Given the description of an element on the screen output the (x, y) to click on. 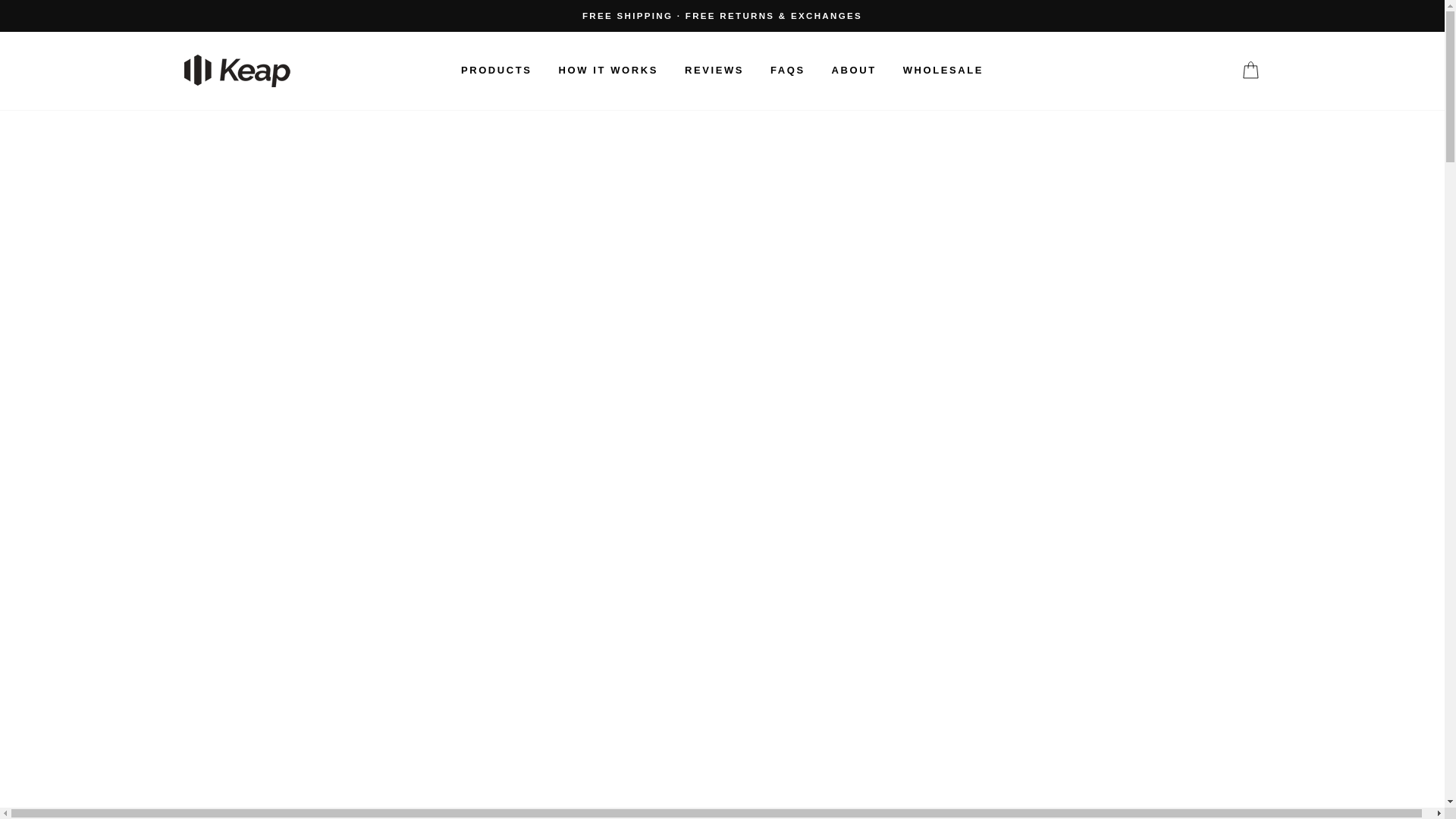
HOW IT WORKS (608, 70)
WHOLESALE (942, 70)
CART (1249, 70)
PRODUCTS (496, 70)
FAQS (787, 70)
REVIEWS (713, 70)
ABOUT (854, 70)
